Given the description of an element on the screen output the (x, y) to click on. 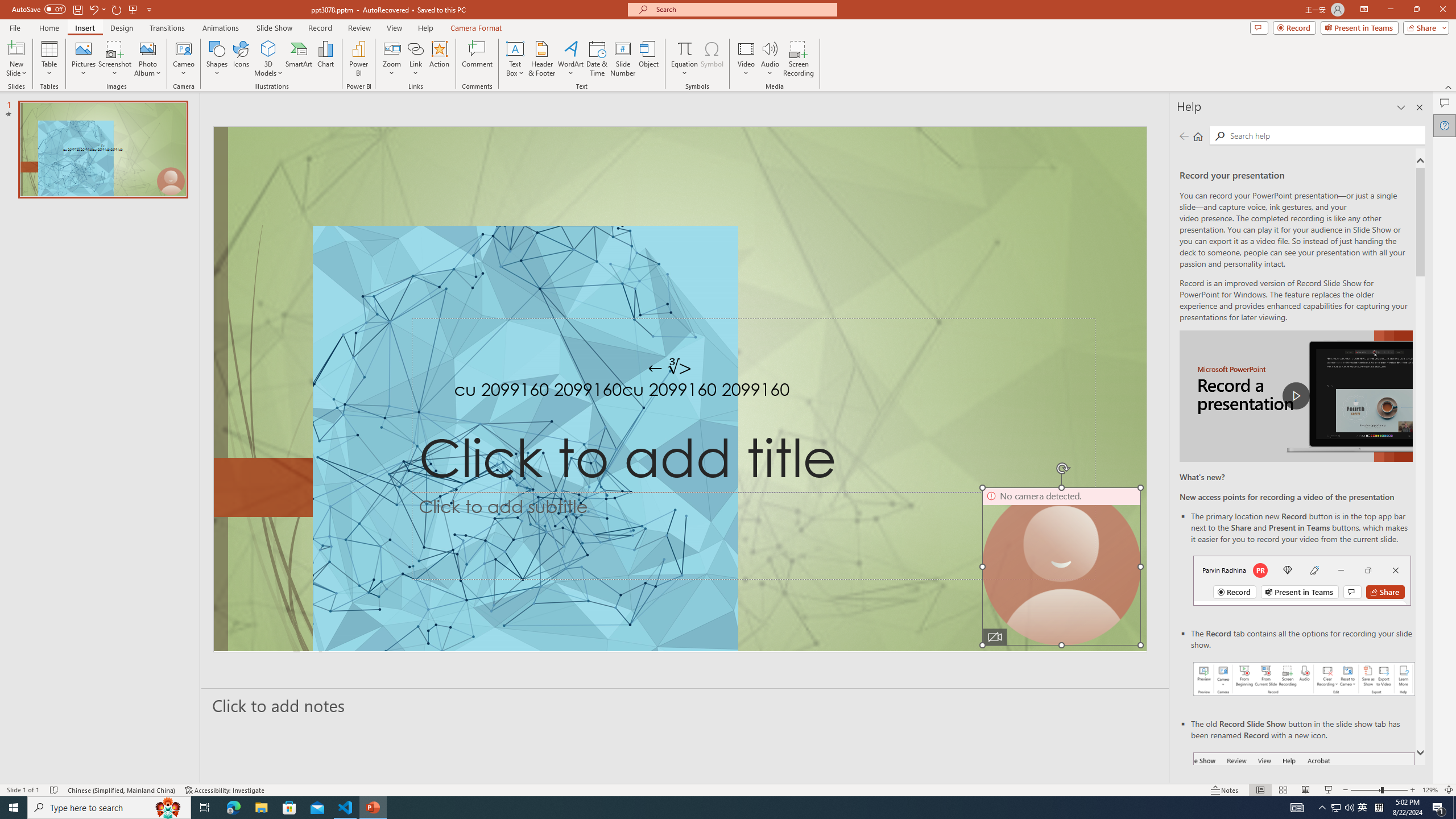
Record button in top bar (1301, 580)
Photo Album... (147, 58)
New Photo Album... (147, 48)
Power BI (358, 58)
